Given the description of an element on the screen output the (x, y) to click on. 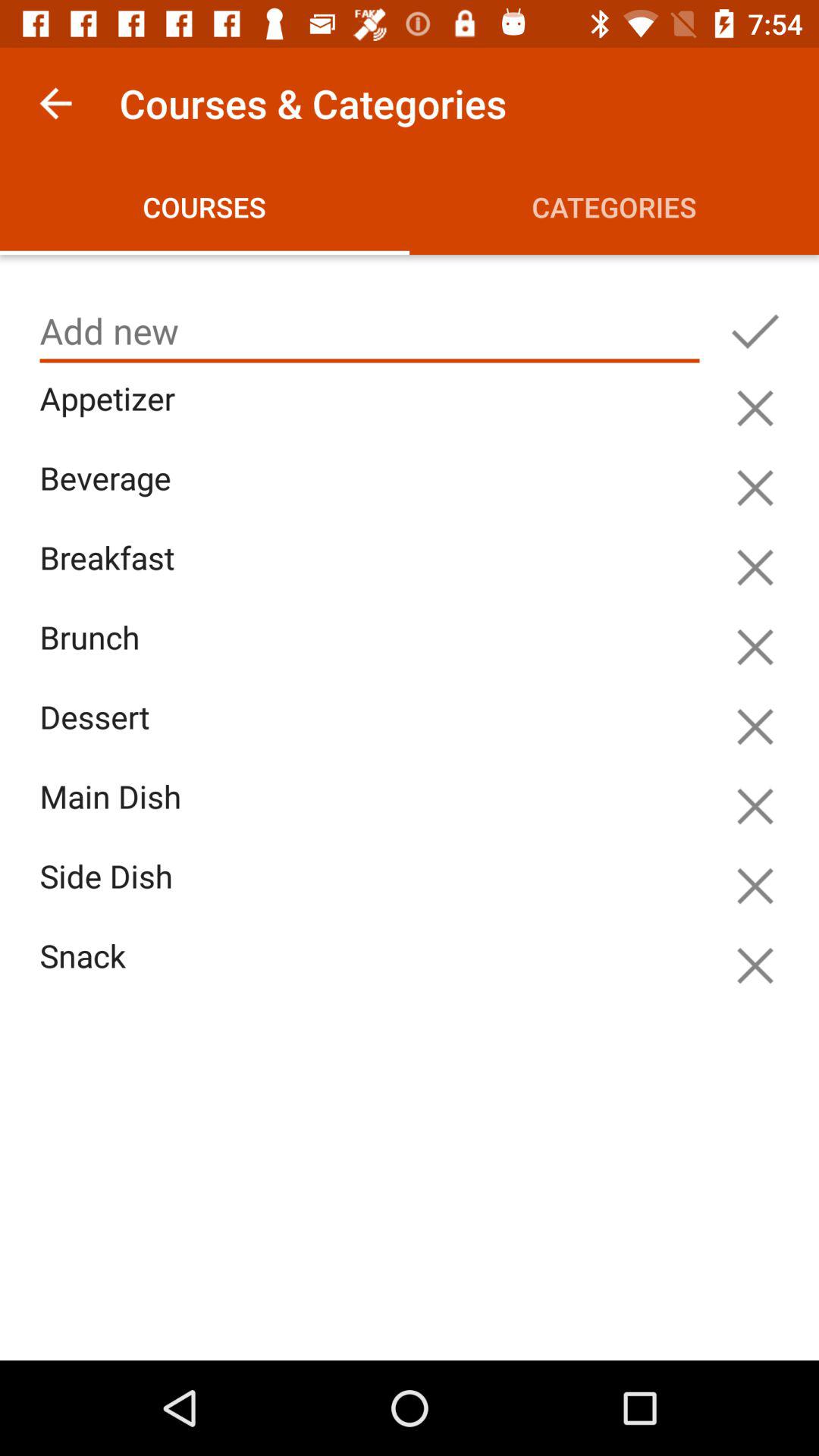
launch breakfast (373, 575)
